Given the description of an element on the screen output the (x, y) to click on. 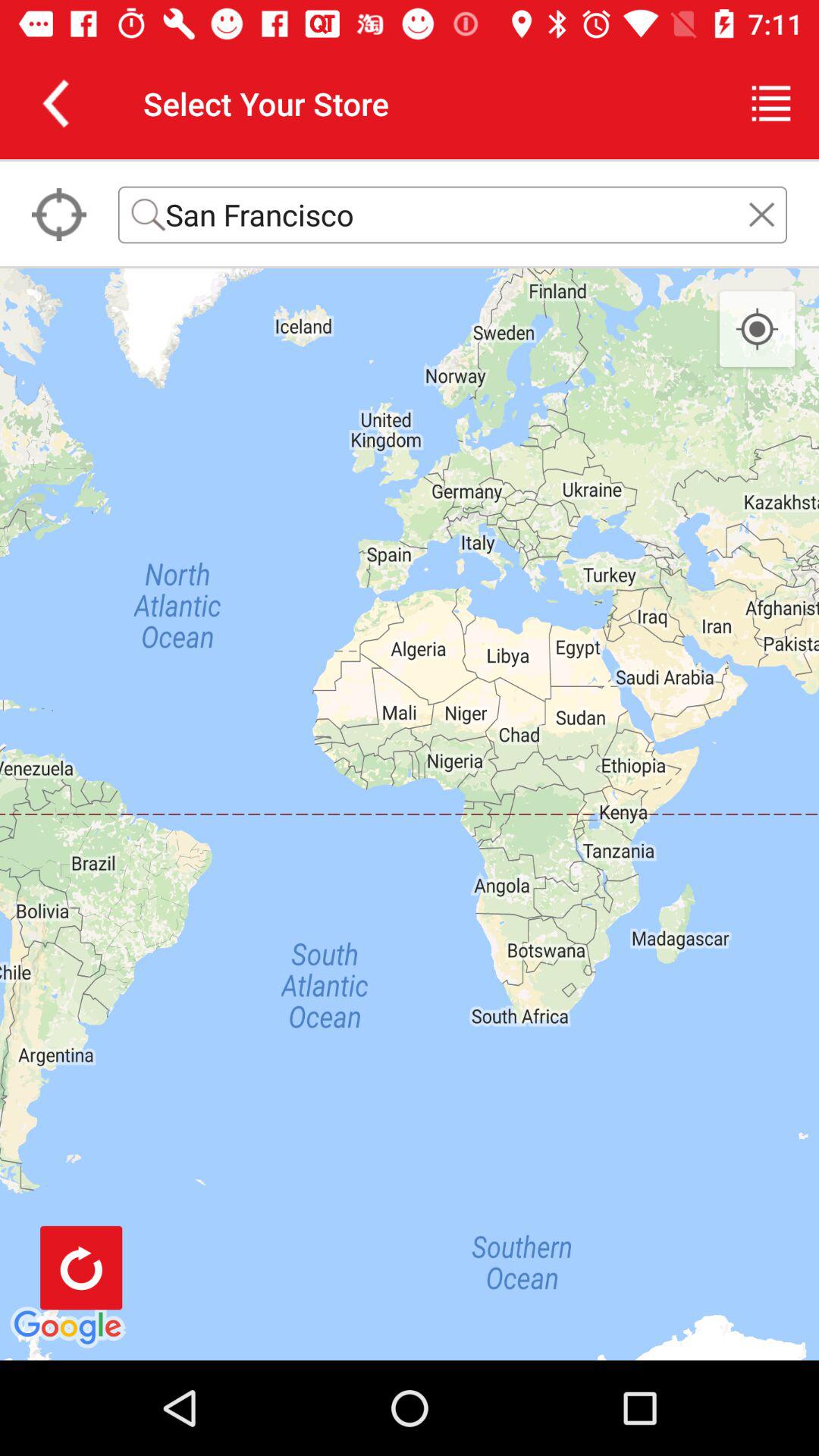
swipe until the san francisco (452, 214)
